Given the description of an element on the screen output the (x, y) to click on. 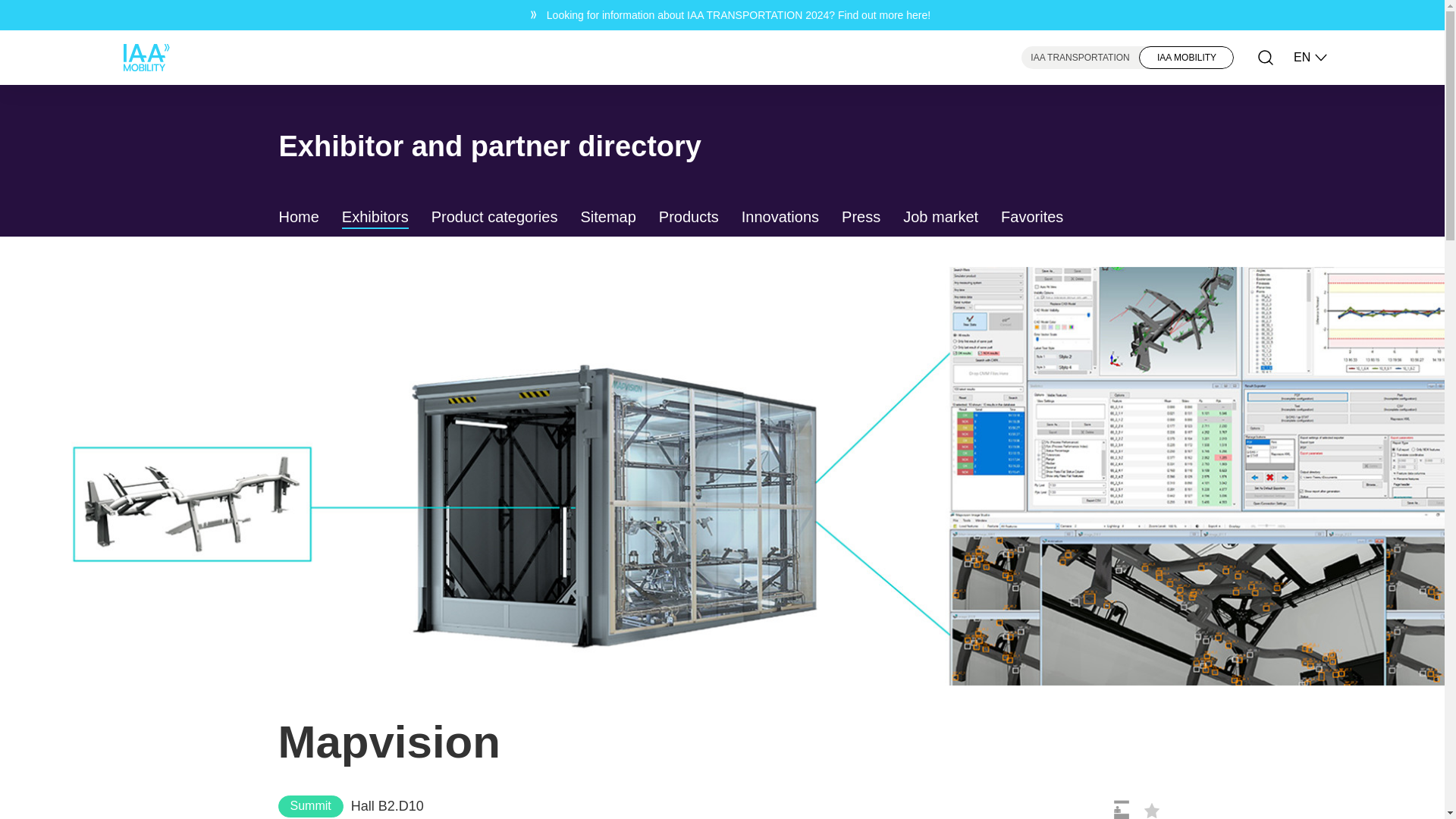
Press (860, 217)
Home (298, 217)
Sitemap (606, 217)
Product categories (493, 217)
Innovations (779, 217)
Exhibitors (375, 217)
Exhibitors (375, 217)
Job market (940, 217)
Favorites (1031, 217)
Job market (940, 217)
Product categories (493, 217)
Innovations (779, 217)
Home (298, 217)
Products (689, 217)
Press (860, 217)
